Given the description of an element on the screen output the (x, y) to click on. 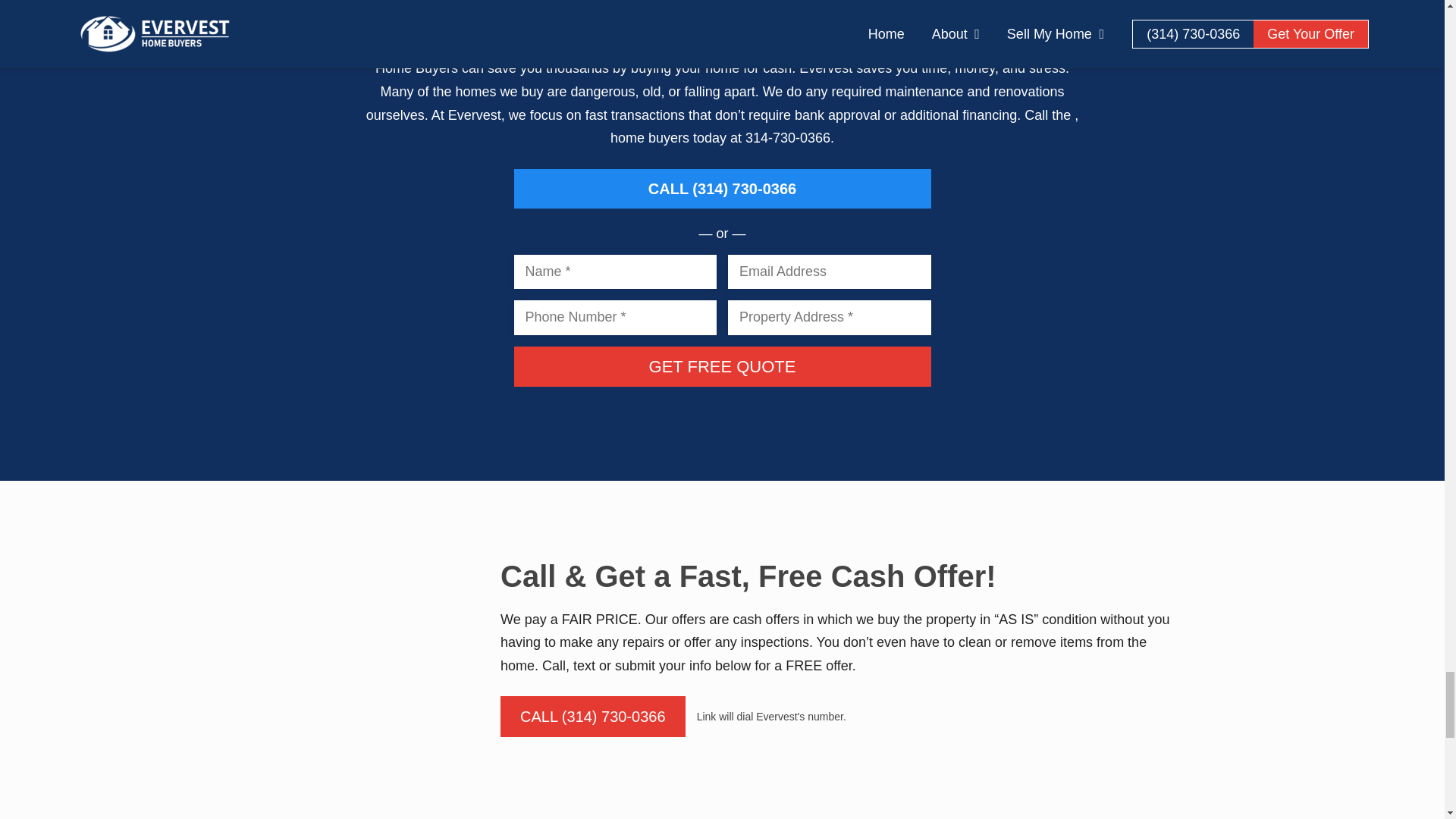
Get Free Quote (722, 366)
